Given the description of an element on the screen output the (x, y) to click on. 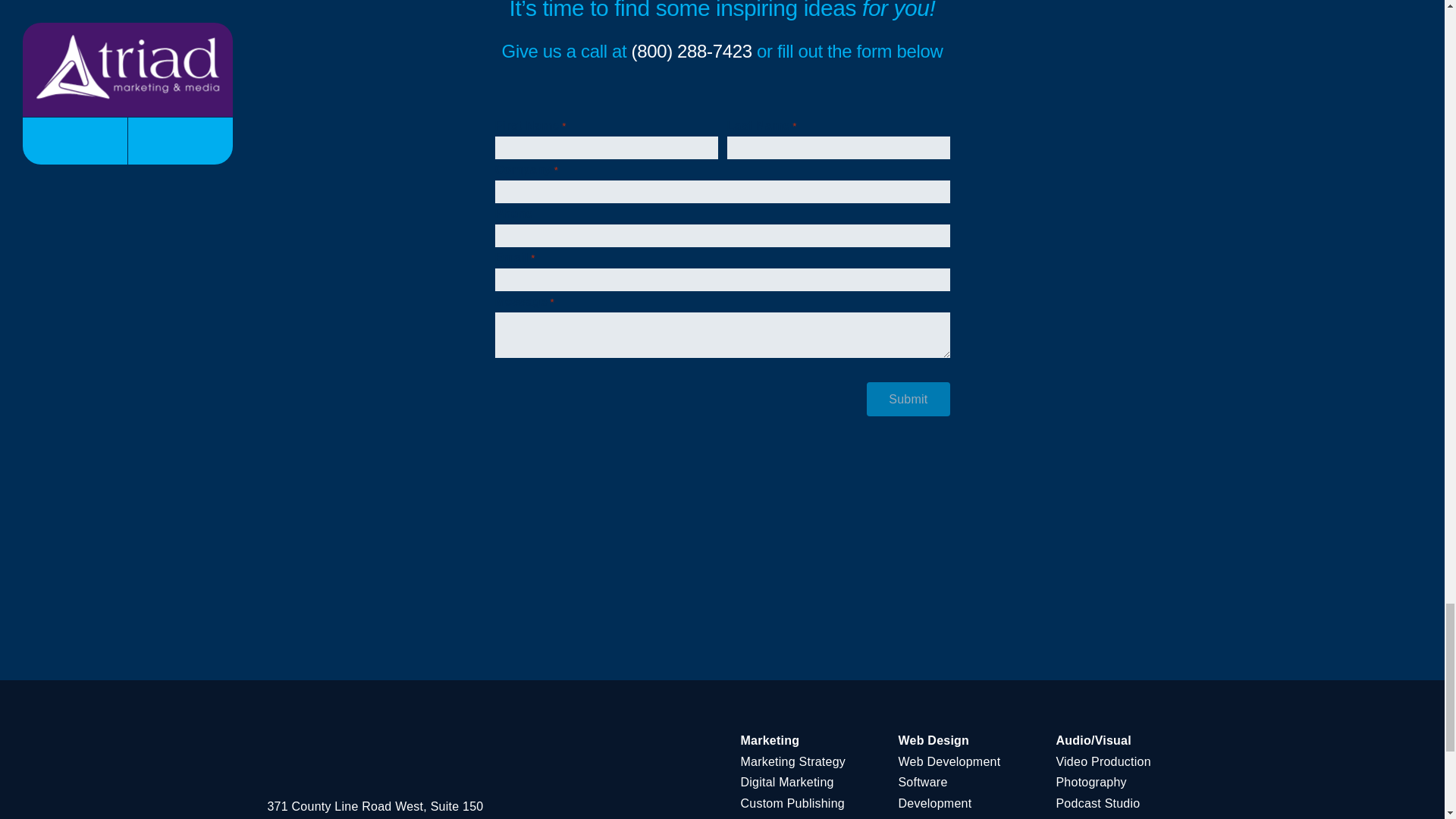
Digital Marketing (785, 781)
Submit (907, 399)
Custom Publishing (791, 802)
Submit (907, 399)
Marketing Strategy (792, 761)
Advertising (770, 818)
